Given the description of an element on the screen output the (x, y) to click on. 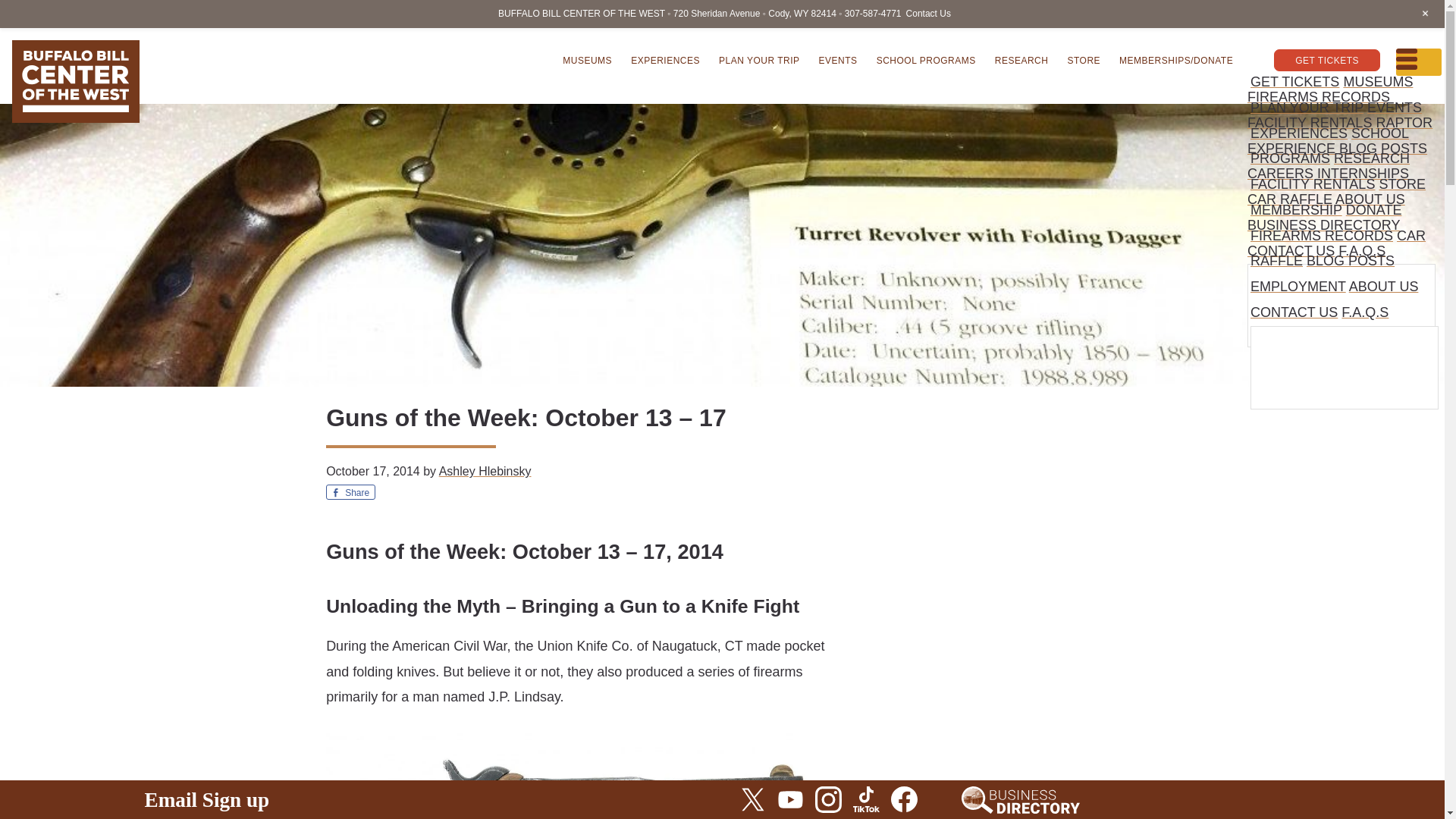
MUSEUMS (1377, 81)
FIREARMS RECORDS (1321, 234)
CAREERS (1280, 173)
SCHOOL PROGRAMS (926, 59)
PLAN YOUR TRIP (1306, 107)
STORE (1083, 59)
RAPTOR EXPERIENCE (1339, 135)
ABOUT US (1370, 199)
RESEARCH (1371, 158)
CAR RAFFLE (1289, 199)
SCHOOL PROGRAMS (1329, 146)
EVENTS (837, 59)
EXPERIENCES (665, 59)
STORE (1401, 183)
